Given the description of an element on the screen output the (x, y) to click on. 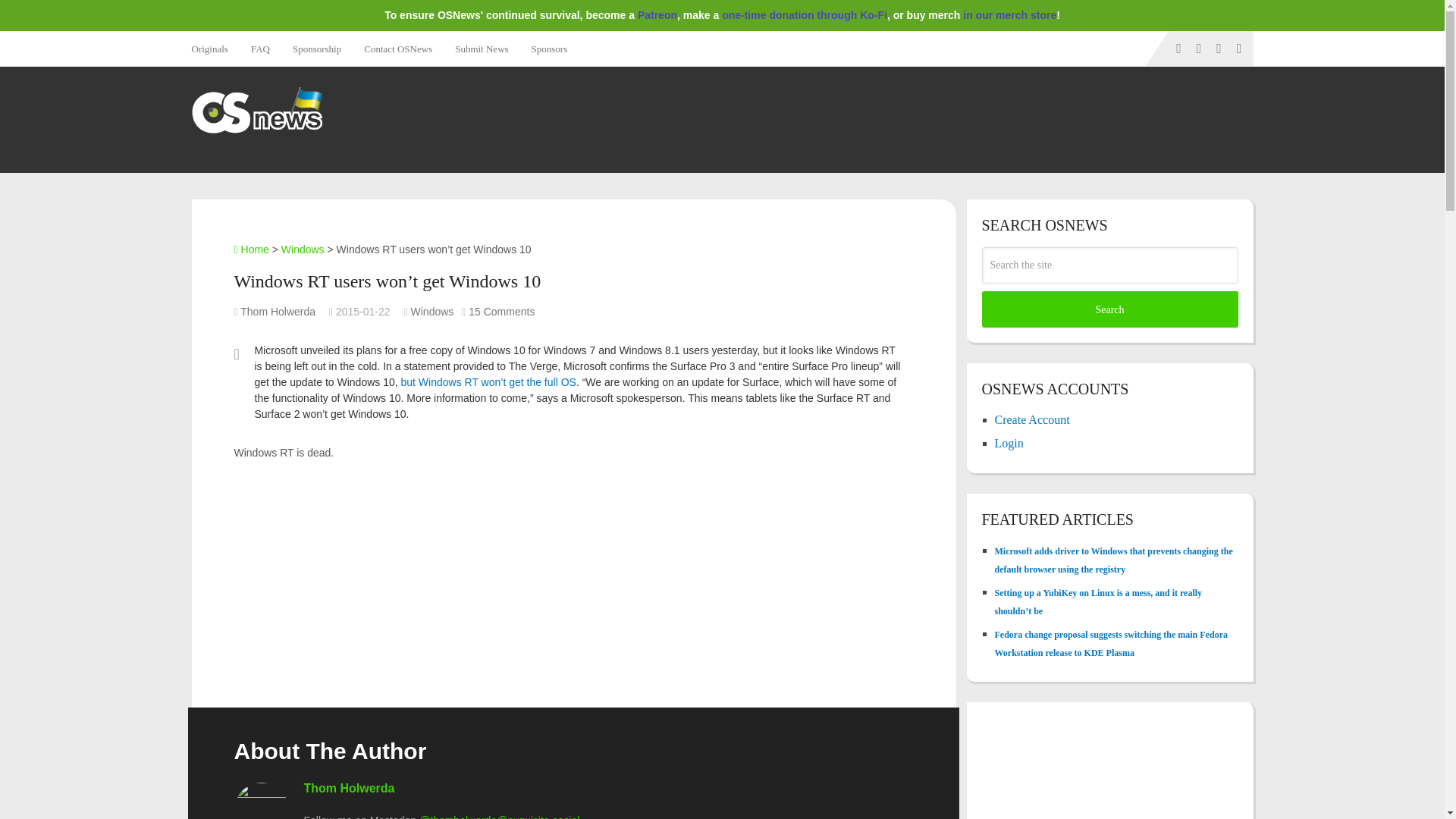
Posts by Thom Holwerda (277, 311)
Thom Holwerda (348, 788)
Patreon (657, 15)
Windows (432, 311)
Originals (214, 48)
15 Comments (501, 311)
FAQ (260, 48)
Windows (302, 249)
Thom Holwerda (277, 311)
in our merch store (1009, 15)
